Given the description of an element on the screen output the (x, y) to click on. 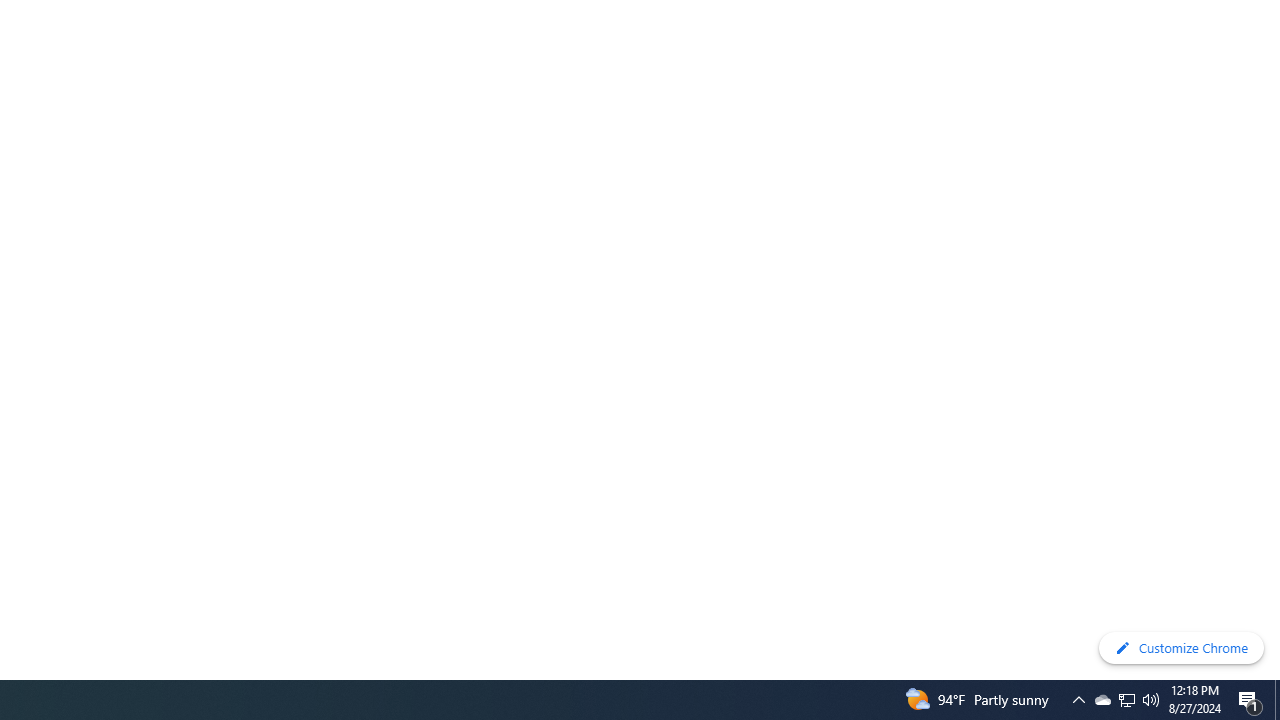
Customize Chrome (1181, 647)
